Given the description of an element on the screen output the (x, y) to click on. 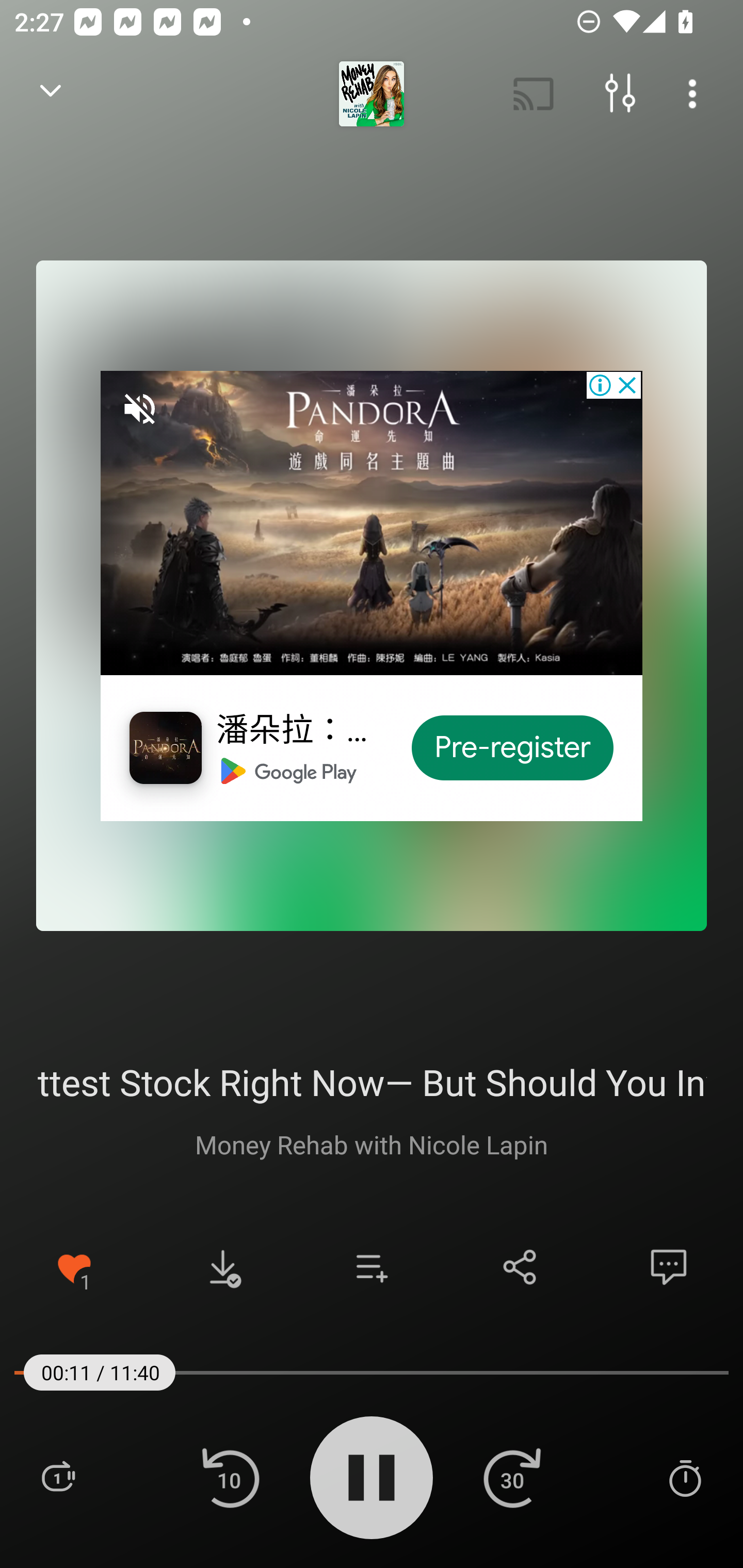
Cast. Disconnected (533, 93)
 Back (50, 94)
潘朵拉：… Pre-register Pre-register (371, 595)
Pre-register (512, 747)
Money Rehab with Nicole Lapin (371, 1144)
Comments (668, 1266)
Remove from Favorites (73, 1266)
Add to playlist (371, 1266)
Share (519, 1266)
 Playlist (57, 1477)
Sleep Timer  (684, 1477)
